Given the description of an element on the screen output the (x, y) to click on. 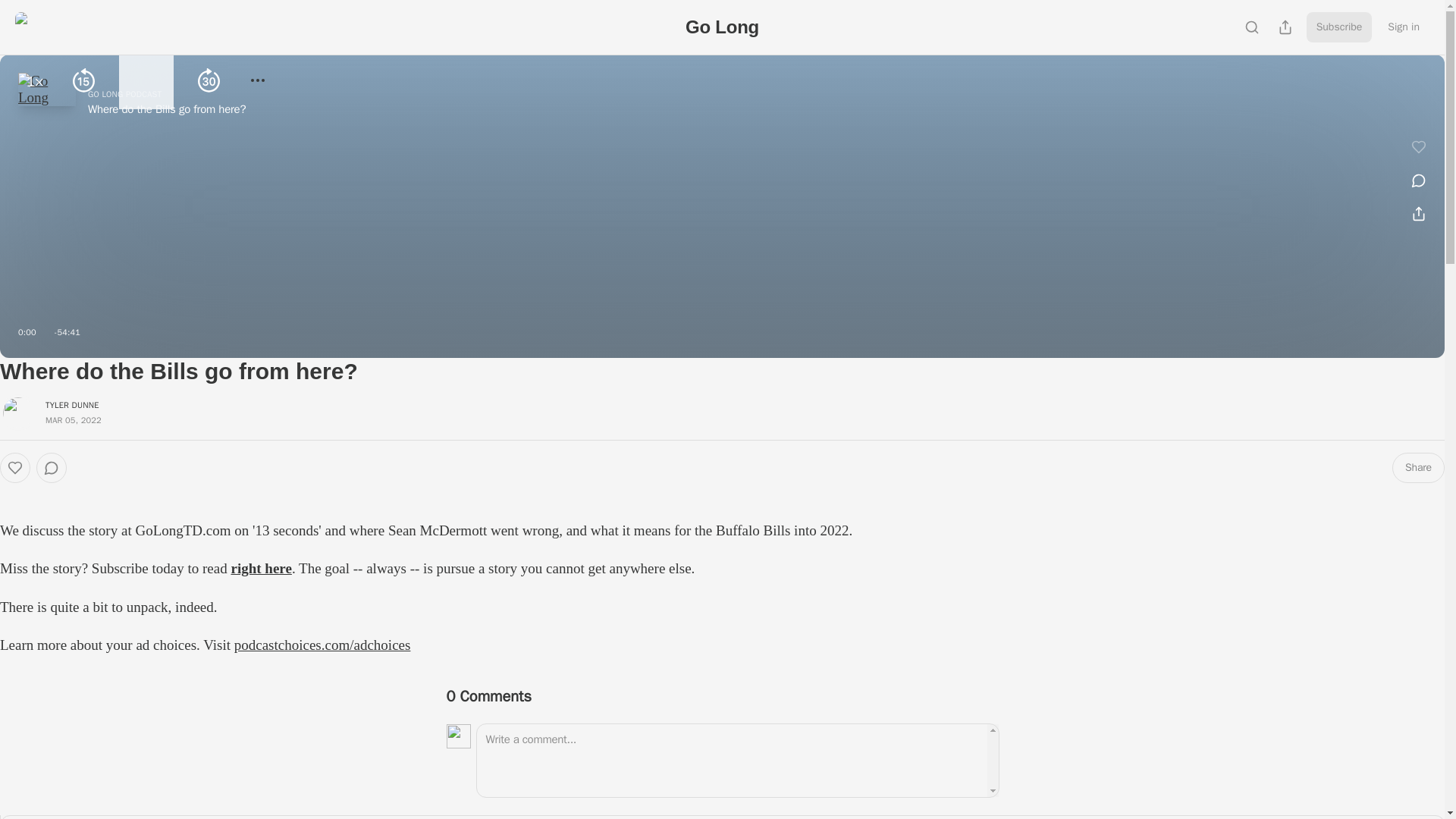
Sign in (1403, 27)
Subscribe (1339, 27)
Go Long (721, 26)
right here (260, 568)
TYLER DUNNE (72, 404)
Share (1417, 467)
